Given the description of an element on the screen output the (x, y) to click on. 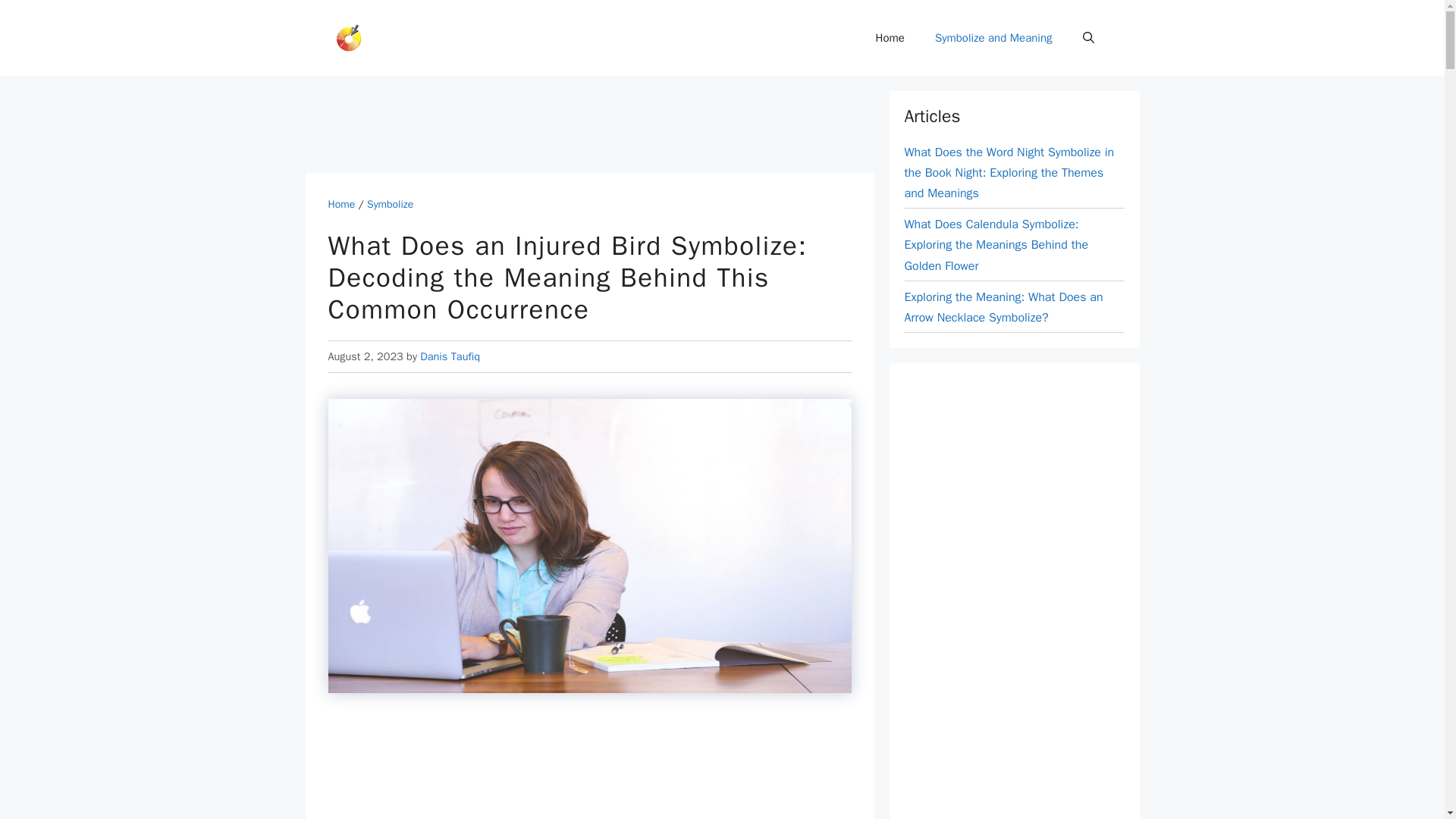
Advertisement (589, 769)
Danis Taufiq (450, 356)
Symbolize and Meaning (993, 37)
Home (890, 37)
Symbolize (389, 204)
View all posts by Danis Taufiq (450, 356)
Home (341, 204)
Advertisement (580, 124)
